Given the description of an element on the screen output the (x, y) to click on. 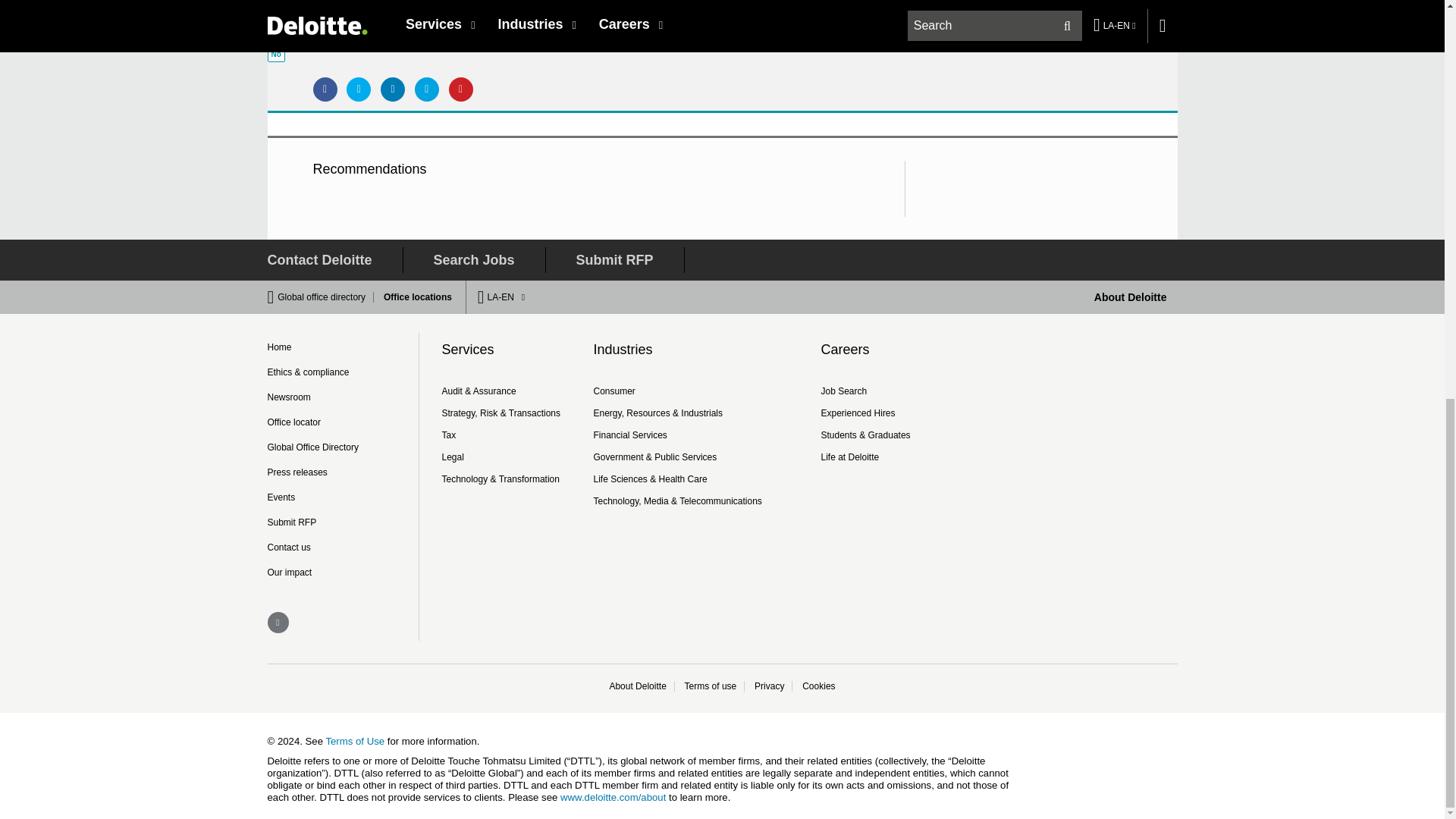
Share via... (358, 88)
Global office directory (326, 296)
Office locations (413, 296)
Share via... (460, 88)
About Deloitte (1130, 297)
Share via... (392, 88)
Share via... (426, 88)
Share via... (324, 88)
